Given the description of an element on the screen output the (x, y) to click on. 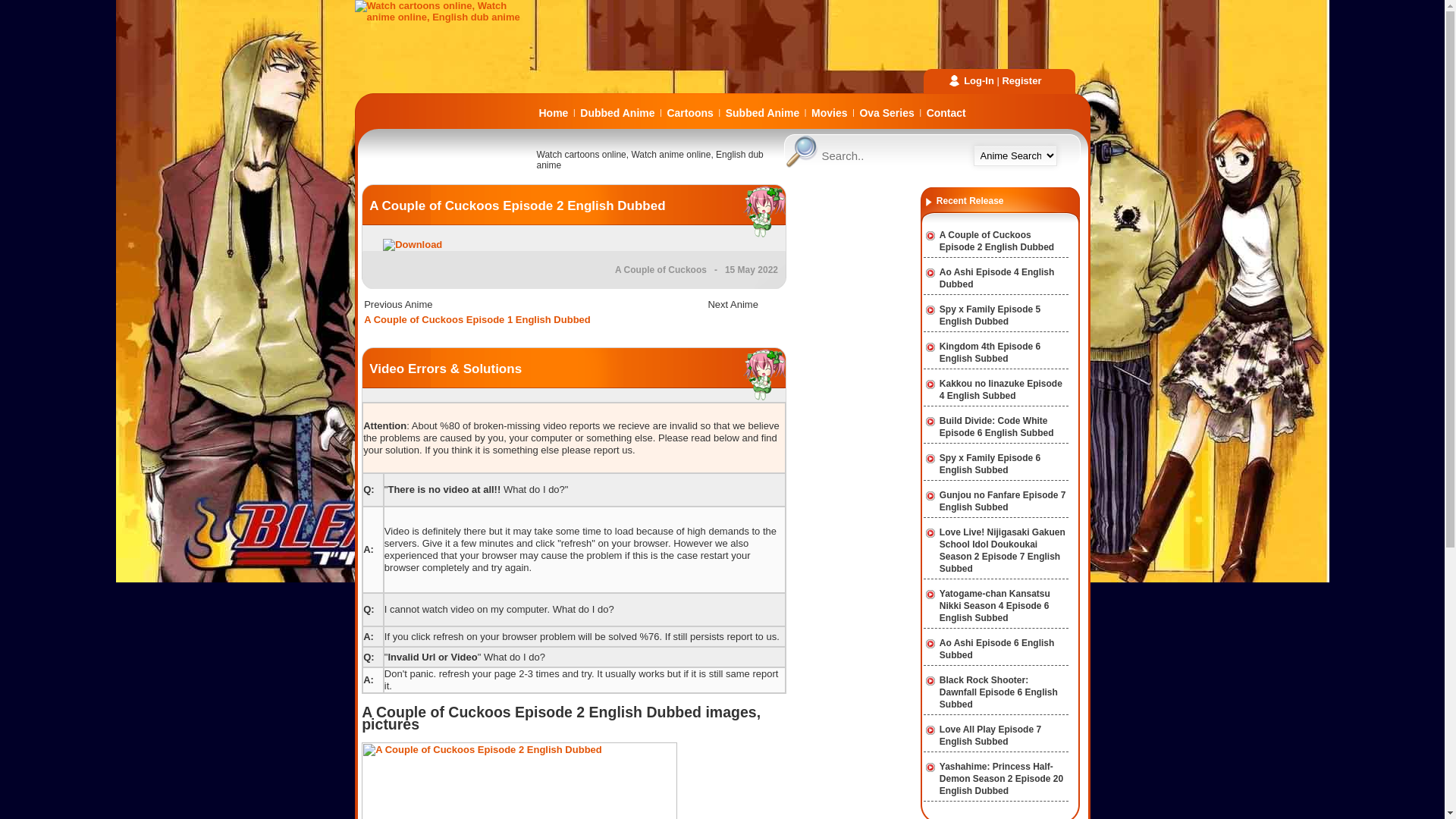
Kakkou no Iinazuke Episode 4 English Subbed Element type: text (1000, 389)
Gunjou no Fanfare Episode 7 English Subbed Element type: text (1002, 500)
Spy x Family Episode 6 English Subbed Element type: text (989, 463)
A Couple of Cuckoos Episode 2 English Dubbed Element type: text (517, 205)
A Couple of Cuckoos Element type: text (660, 269)
Subbed Anime Element type: text (762, 112)
Ao Ashi Episode 6 English Subbed Element type: text (996, 648)
A Couple of Cuckoos Episode 2 English Dubbed Element type: text (996, 240)
Ao Ashi Episode 4 English Dubbed Element type: text (996, 277)
Black Rock Shooter: Dawnfall Episode 6 English Subbed Element type: text (998, 691)
Contact Element type: text (946, 112)
Build Divide: Code White Episode 6 English Subbed Element type: text (996, 426)
Love All Play Episode 7 English Subbed Element type: text (990, 735)
Cartoons Element type: text (689, 112)
Video Errors & Solutions Element type: text (445, 368)
A Couple of Cuckoos Episode 1 English Dubbed Element type: text (477, 319)
Log-In Element type: text (978, 80)
Home Element type: text (552, 112)
Dubbed Anime Element type: text (617, 112)
Spy x Family Episode 5 English Dubbed Element type: text (989, 315)
Register Element type: text (1021, 80)
Movies Element type: text (829, 112)
Kingdom 4th Episode 6 English Subbed Element type: text (989, 352)
Watch cartoons online, Watch anime online, English dub anime Element type: hover (445, 16)
Ova Series Element type: text (886, 112)
